Given the description of an element on the screen output the (x, y) to click on. 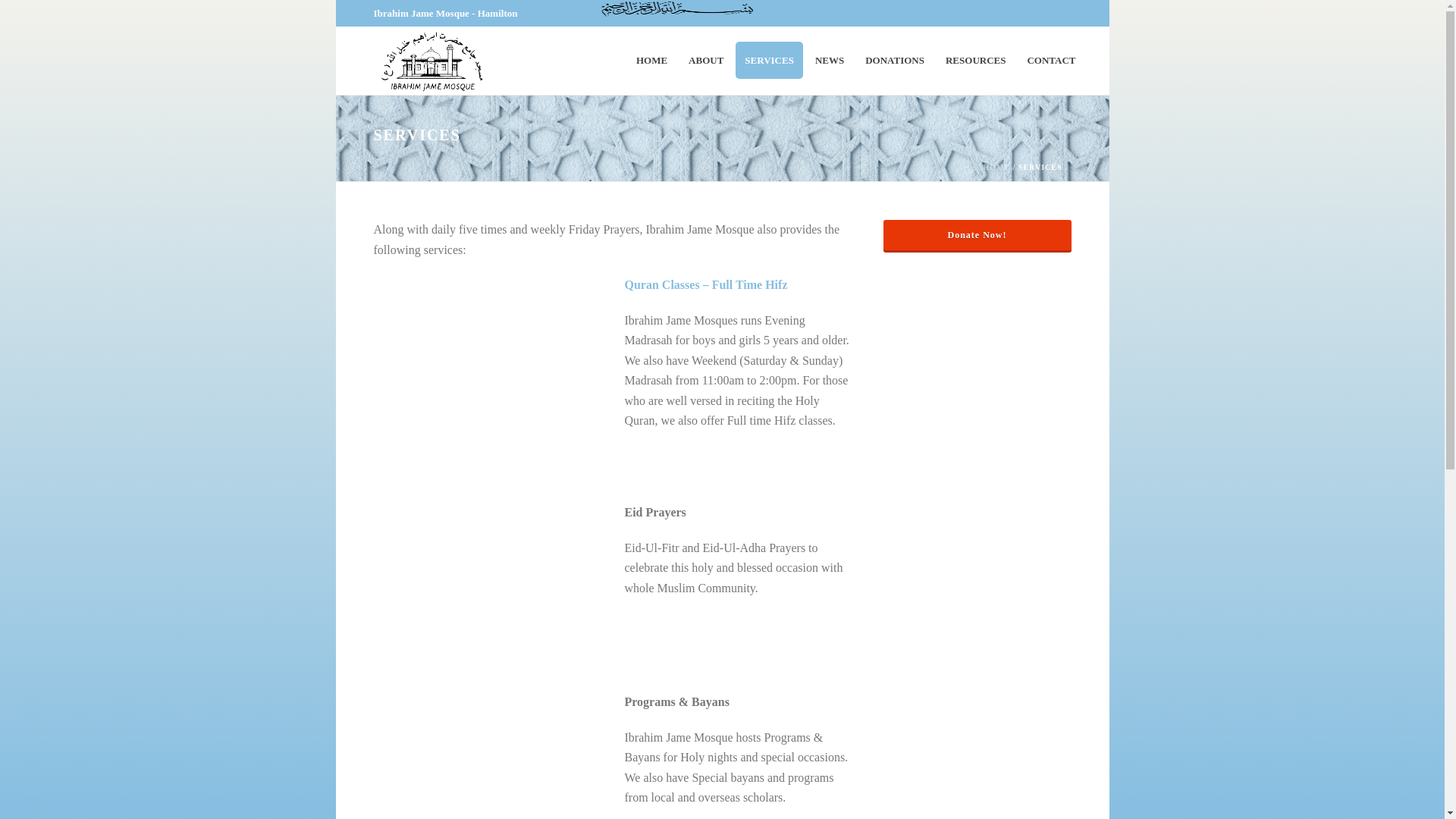
SERVICES (769, 59)
Donate Now! (976, 235)
ABOUT (705, 59)
SERVICES (769, 59)
RESOURCES (975, 59)
NEWS (829, 59)
ABOUT (705, 59)
CONTACT (1050, 59)
RESOURCES (975, 59)
DONATIONS (894, 59)
